Given the description of an element on the screen output the (x, y) to click on. 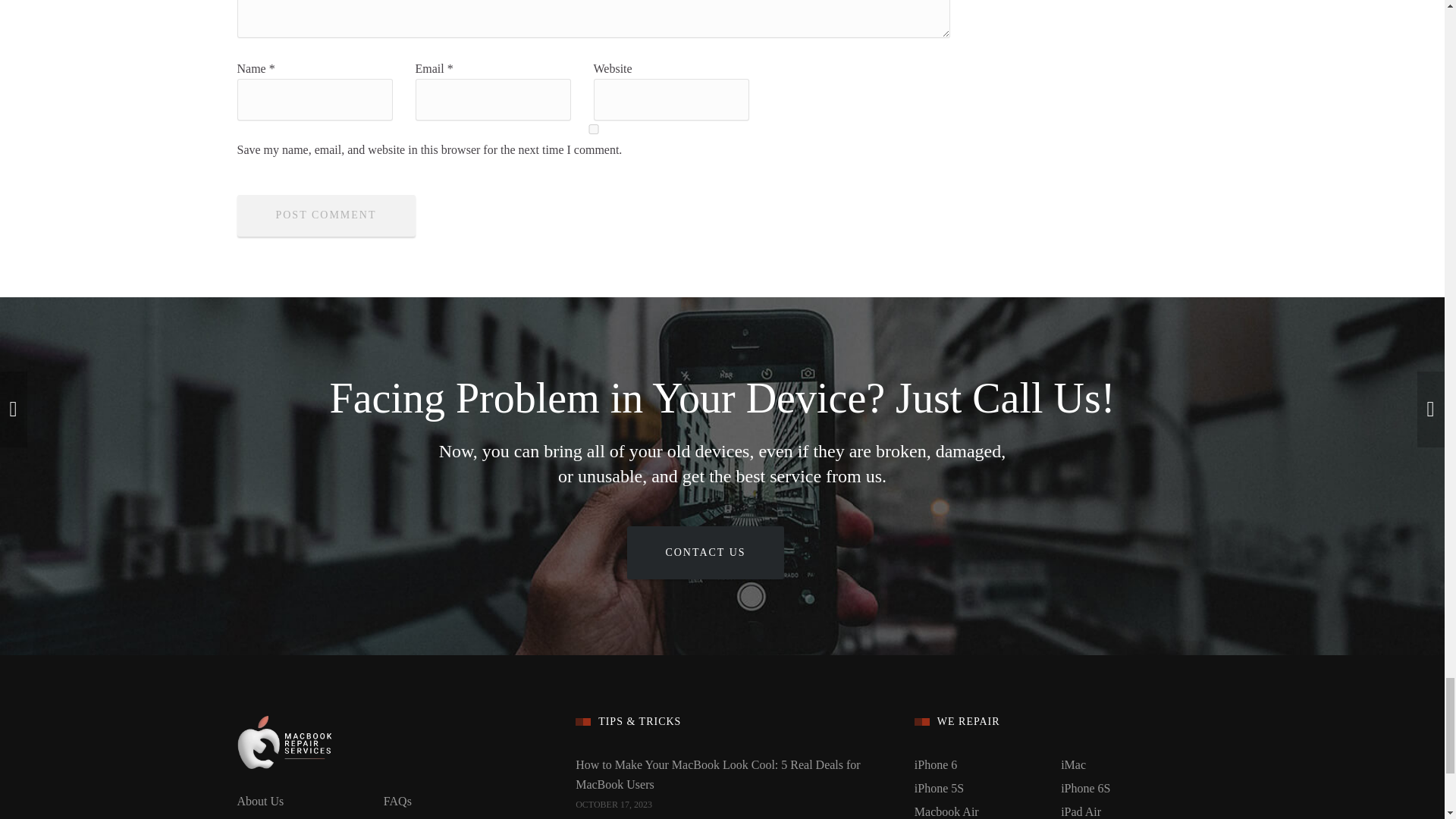
Post Comment (324, 215)
Post Comment (324, 215)
yes (592, 129)
